Given the description of an element on the screen output the (x, y) to click on. 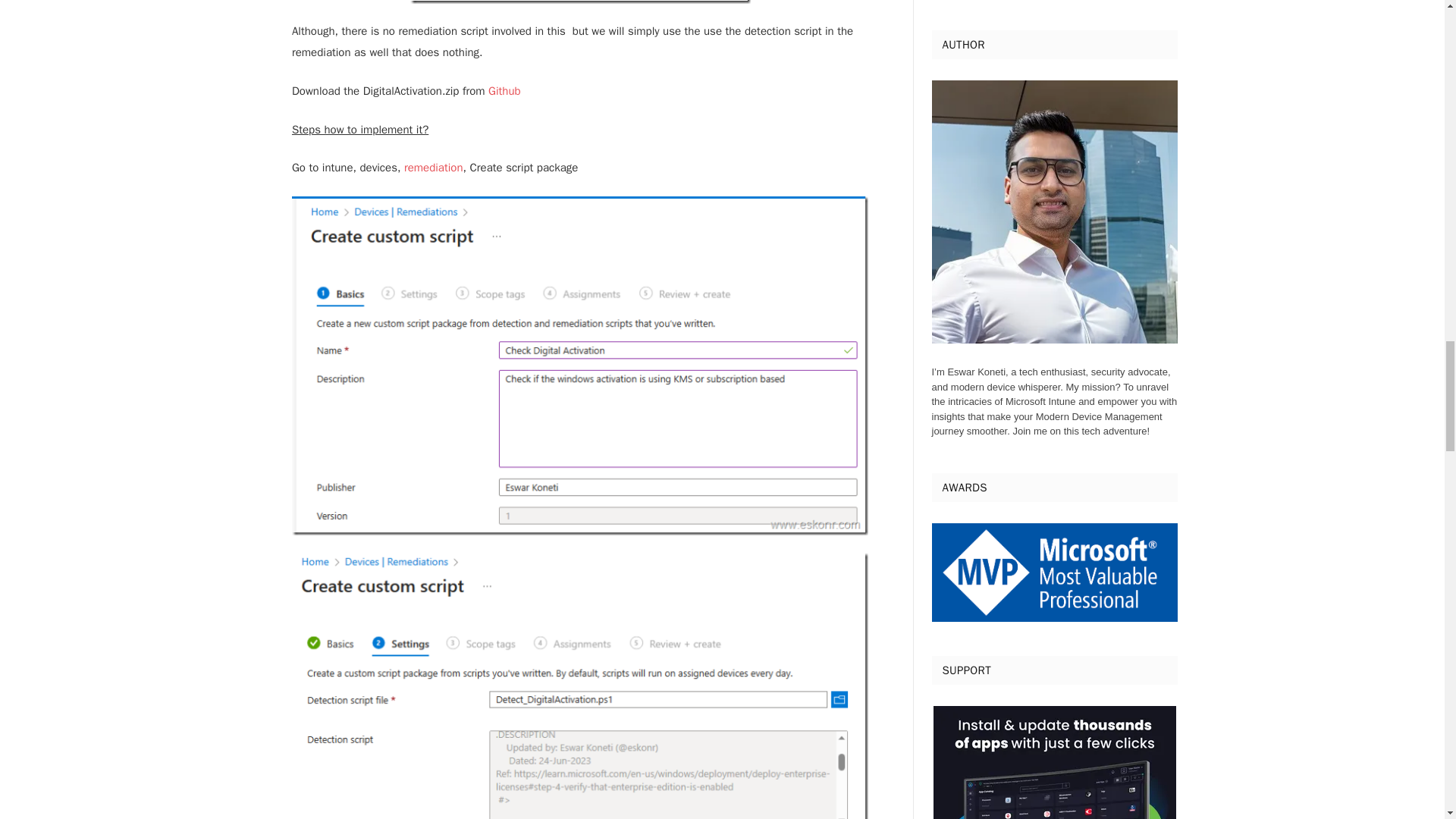
Github (504, 90)
remediation (433, 167)
